Given the description of an element on the screen output the (x, y) to click on. 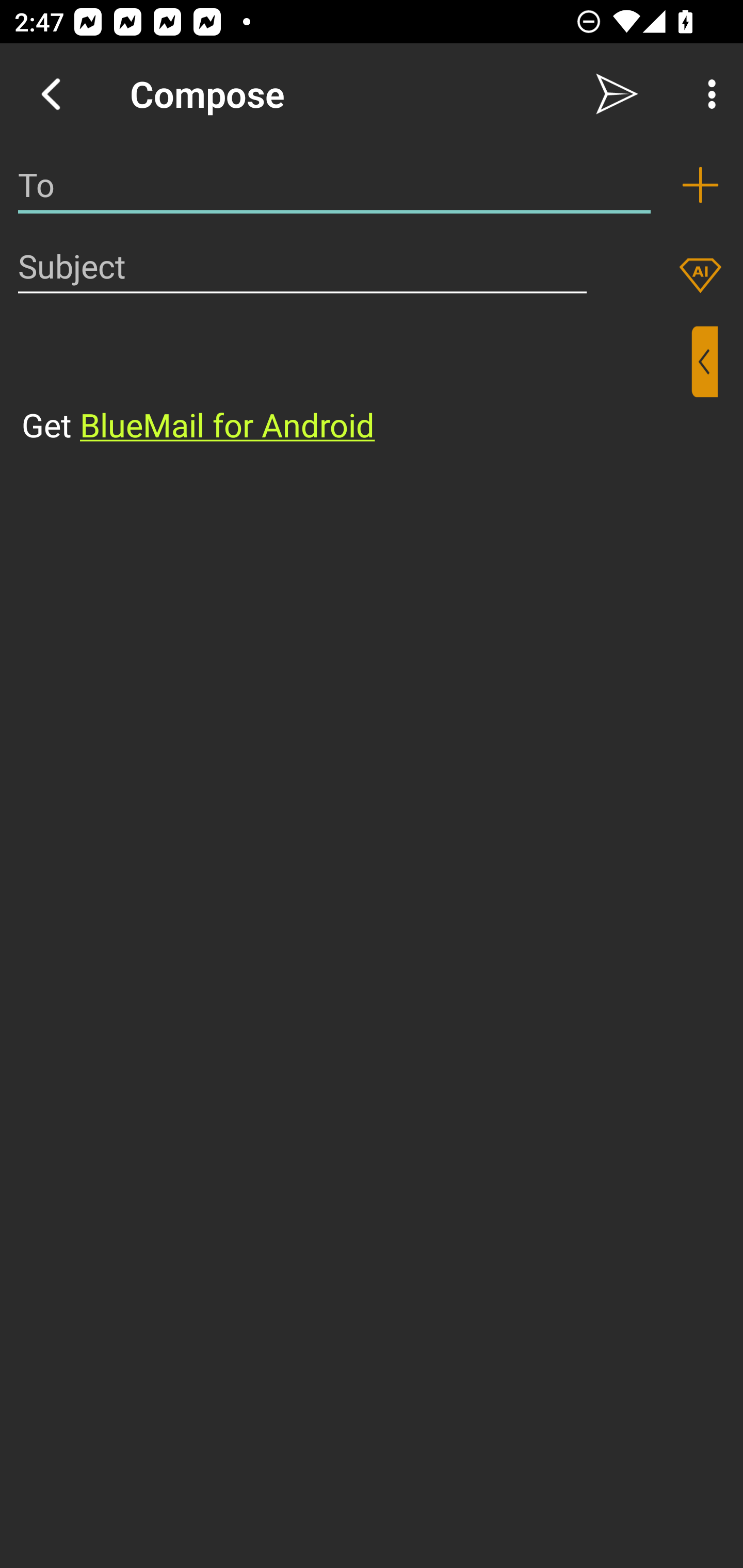
Navigate up (50, 93)
Send (616, 93)
More Options (706, 93)
To (334, 184)
Add recipient (To) (699, 184)
Subject (302, 266)


⁣Get BlueMail for Android ​ (355, 386)
